Given the description of an element on the screen output the (x, y) to click on. 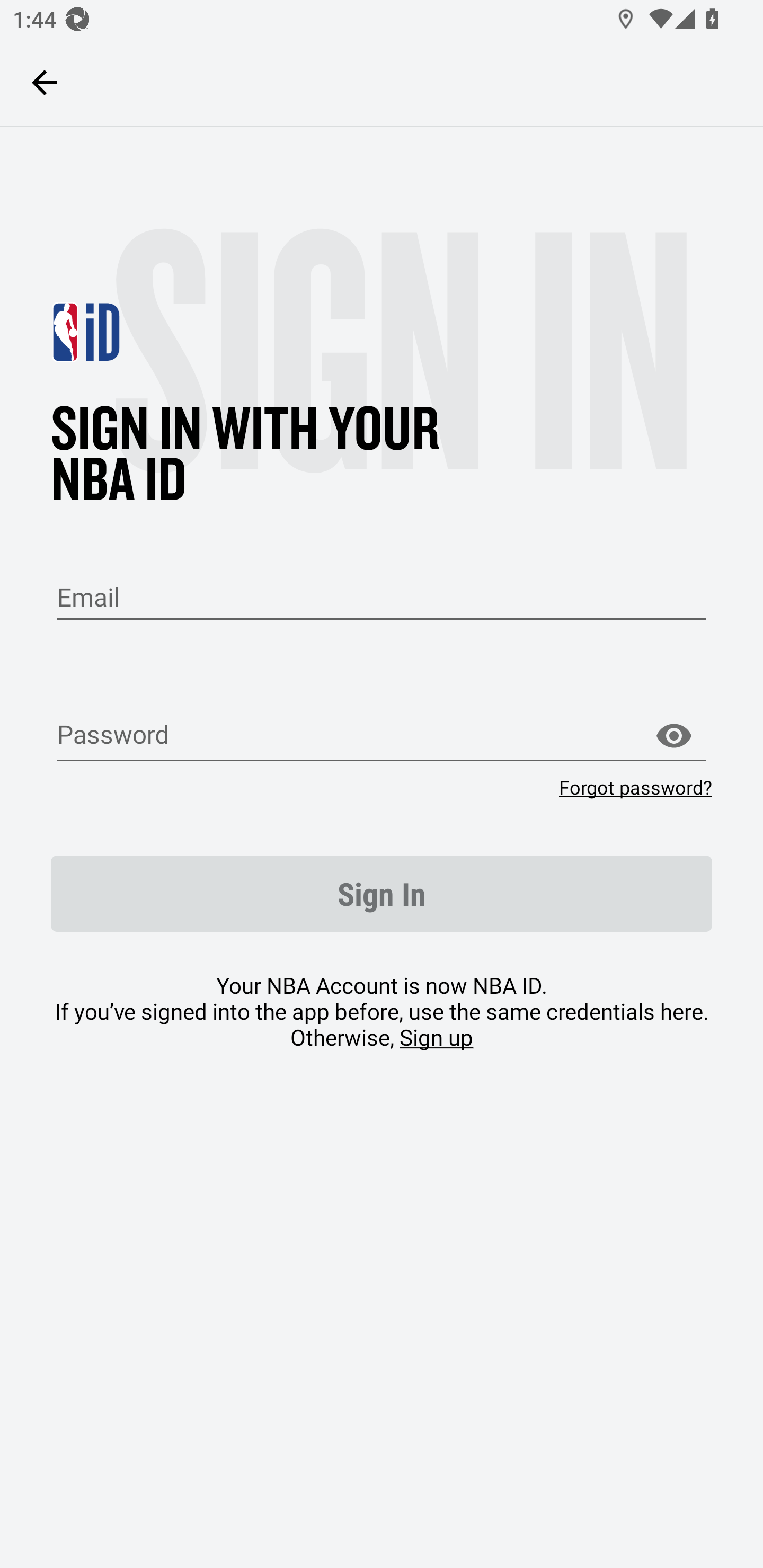
Email (381, 597)
Password (381, 735)
Show password (673, 735)
Forgot password? (635, 786)
Sign In (381, 893)
